Given the description of an element on the screen output the (x, y) to click on. 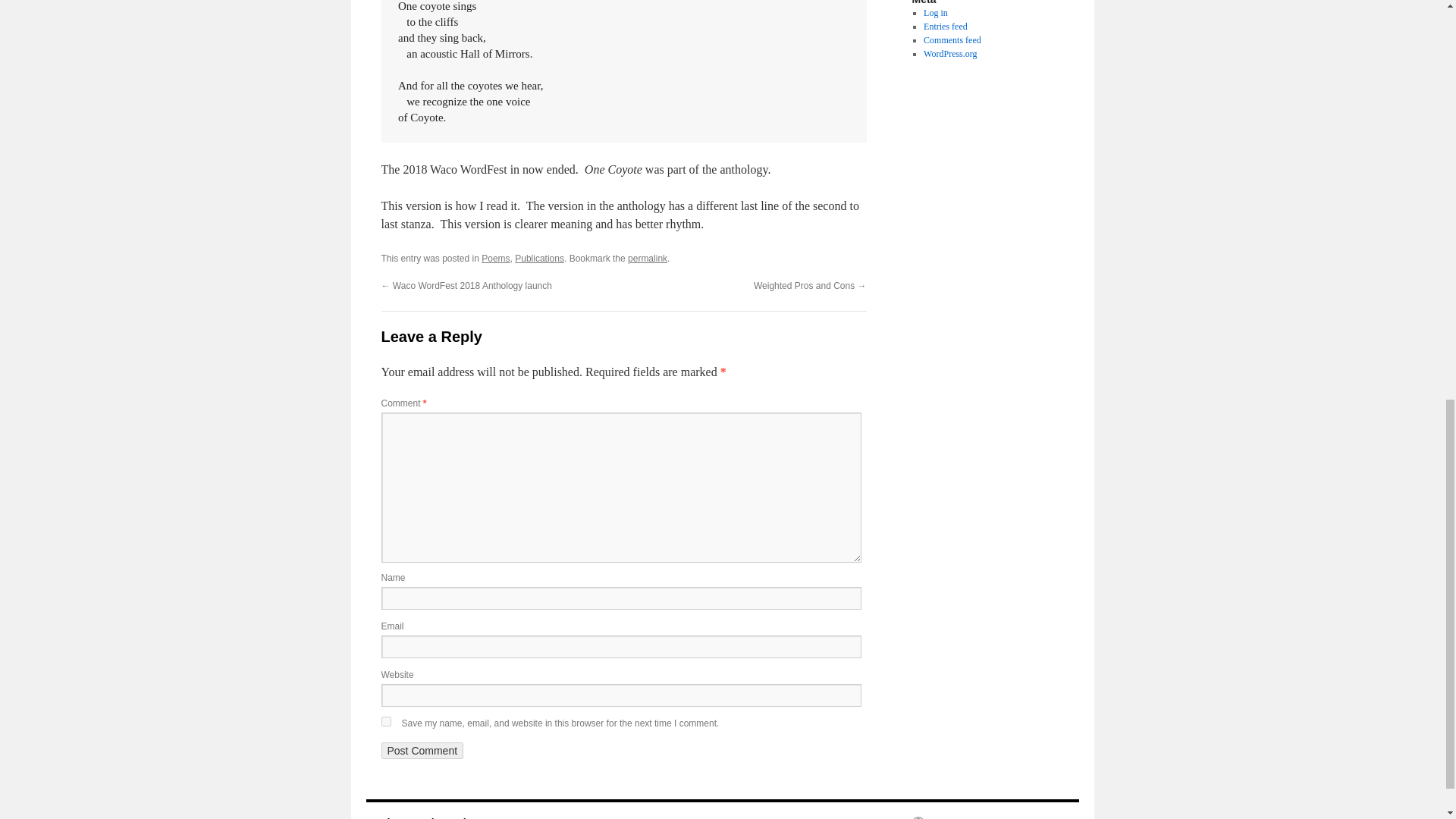
Publications (539, 258)
permalink (646, 258)
Permalink to One Coyote (646, 258)
Post Comment (421, 750)
Poems (495, 258)
Post Comment (421, 750)
Comments feed (952, 40)
yes (385, 721)
Log in (935, 12)
Entries feed (945, 26)
